Given the description of an element on the screen output the (x, y) to click on. 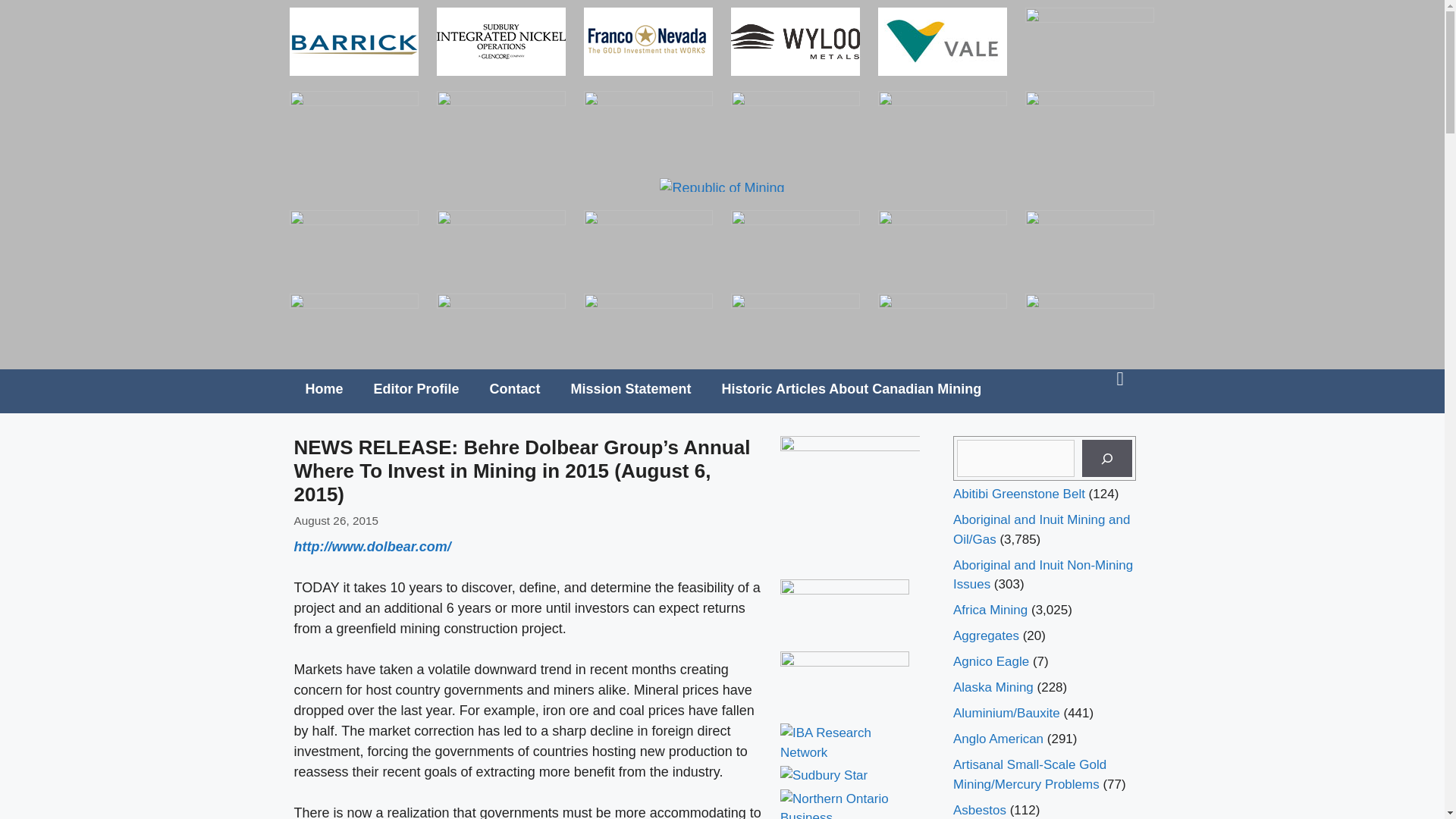
Home (323, 388)
Mission Statement (631, 388)
Contact (515, 388)
Editor Profile (416, 388)
Historic Articles About Canadian Mining (851, 388)
